Given the description of an element on the screen output the (x, y) to click on. 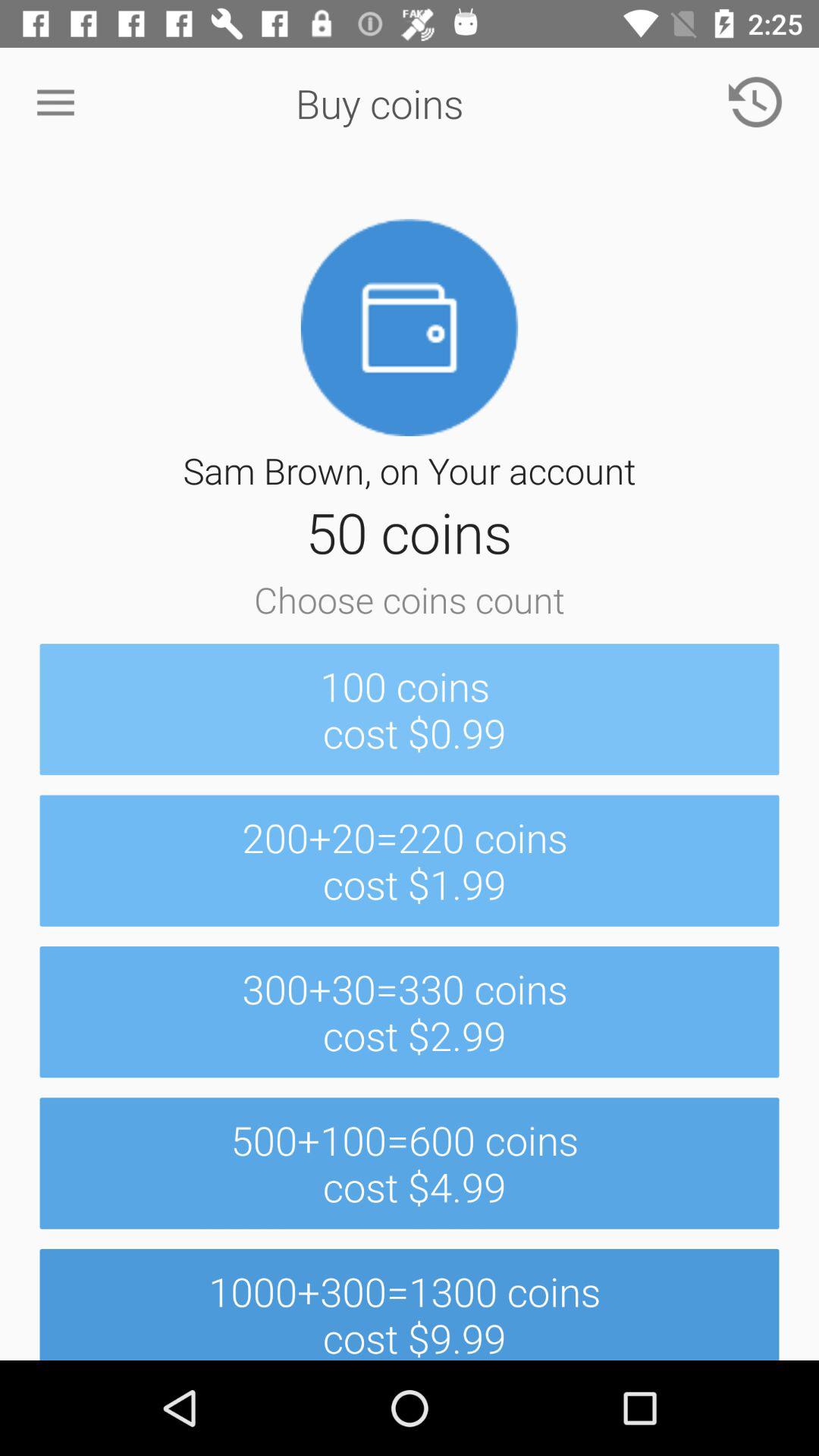
second option from the end of the page (409, 1162)
click on the image which is below the buy coins (409, 327)
